Given the description of an element on the screen output the (x, y) to click on. 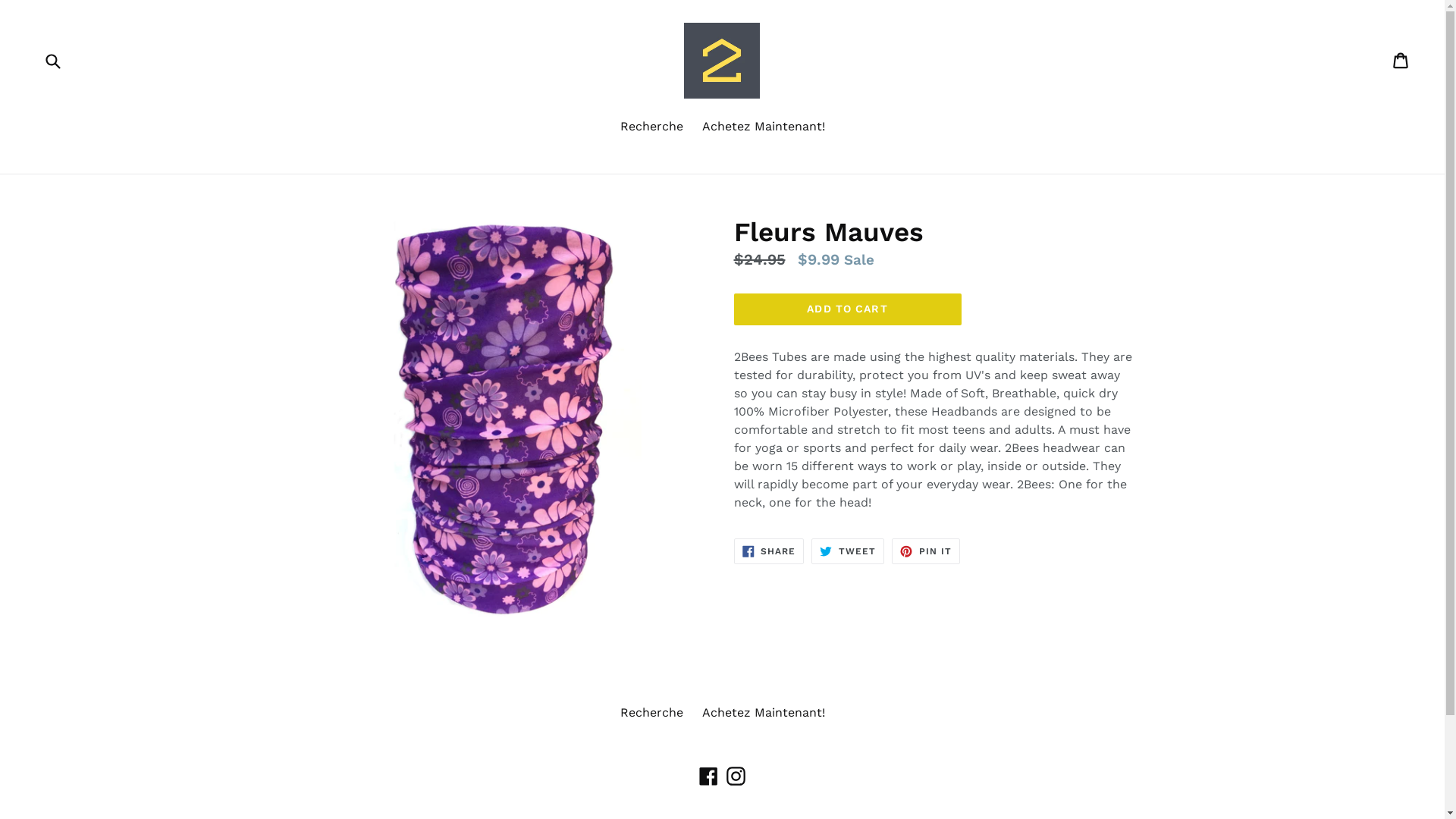
PIN IT
PIN ON PINTEREST Element type: text (925, 551)
SHARE
SHARE ON FACEBOOK Element type: text (769, 551)
TWEET
TWEET ON TWITTER Element type: text (847, 551)
Recherche Element type: text (651, 712)
Recherche Element type: text (651, 127)
Facebook Element type: text (708, 775)
ADD TO CART Element type: text (847, 309)
Achetez Maintenant! Element type: text (763, 127)
Cart
Cart Element type: text (1401, 60)
Submit Element type: text (51, 59)
Instagram Element type: text (735, 775)
Achetez Maintenant! Element type: text (763, 712)
